Given the description of an element on the screen output the (x, y) to click on. 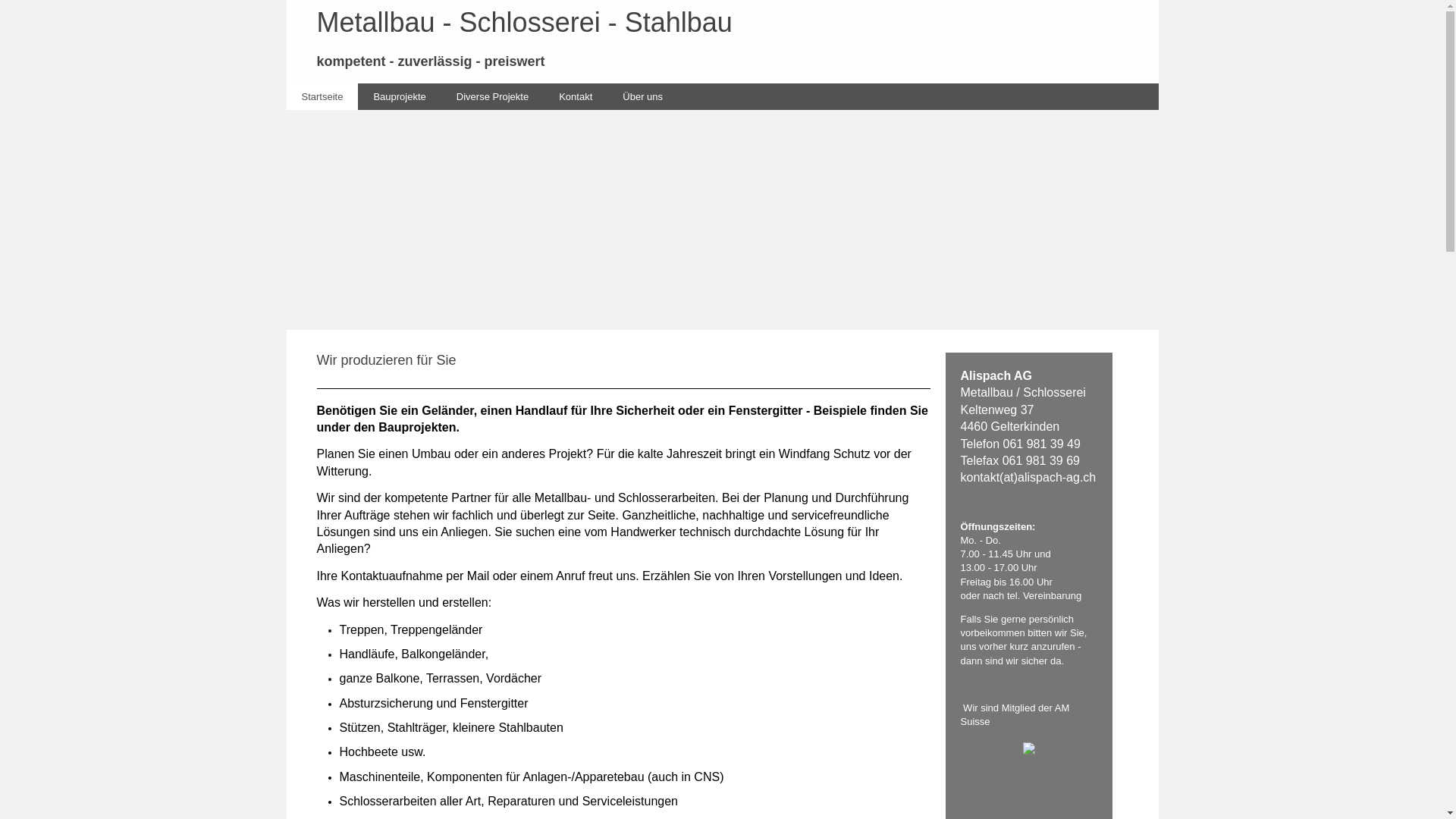
Bauprojekte Element type: text (398, 96)
Diverse Projekte Element type: text (492, 96)
Kontakt Element type: text (575, 96)
Startseite Element type: text (322, 96)
